Given the description of an element on the screen output the (x, y) to click on. 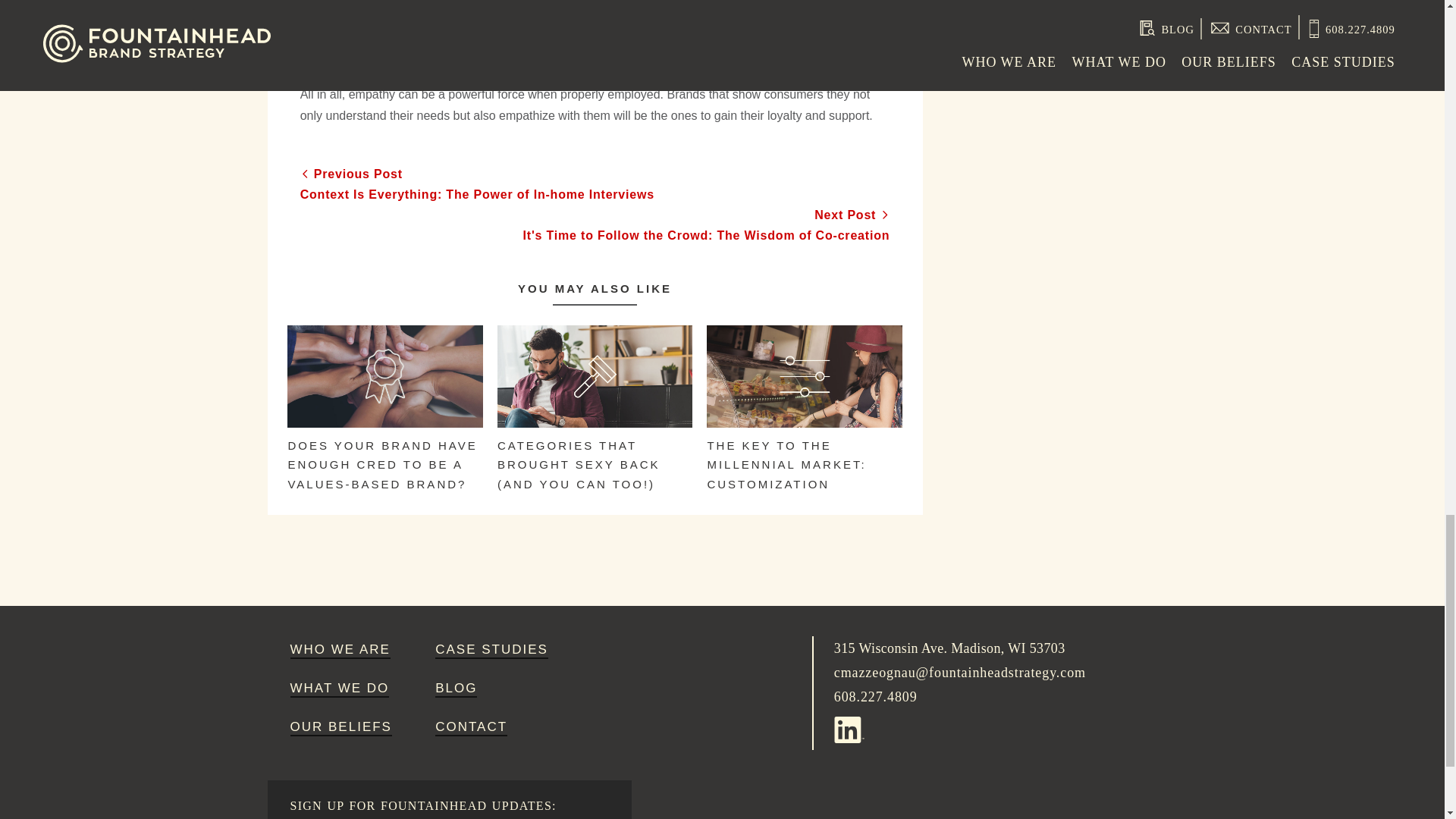
WHO WE ARE (339, 650)
BLOG (456, 688)
Does Your Brand Have Enough Cred to Be a Values-Based Brand? (383, 452)
WHAT WE DO (339, 688)
608.227.4809 (875, 696)
DOES YOUR BRAND HAVE ENOUGH CRED TO BE A VALUES-BASED BRAND? (383, 452)
CASE STUDIES (491, 650)
CONTACT (470, 727)
Connect with Fountainhead on LinkedIn (851, 726)
